Given the description of an element on the screen output the (x, y) to click on. 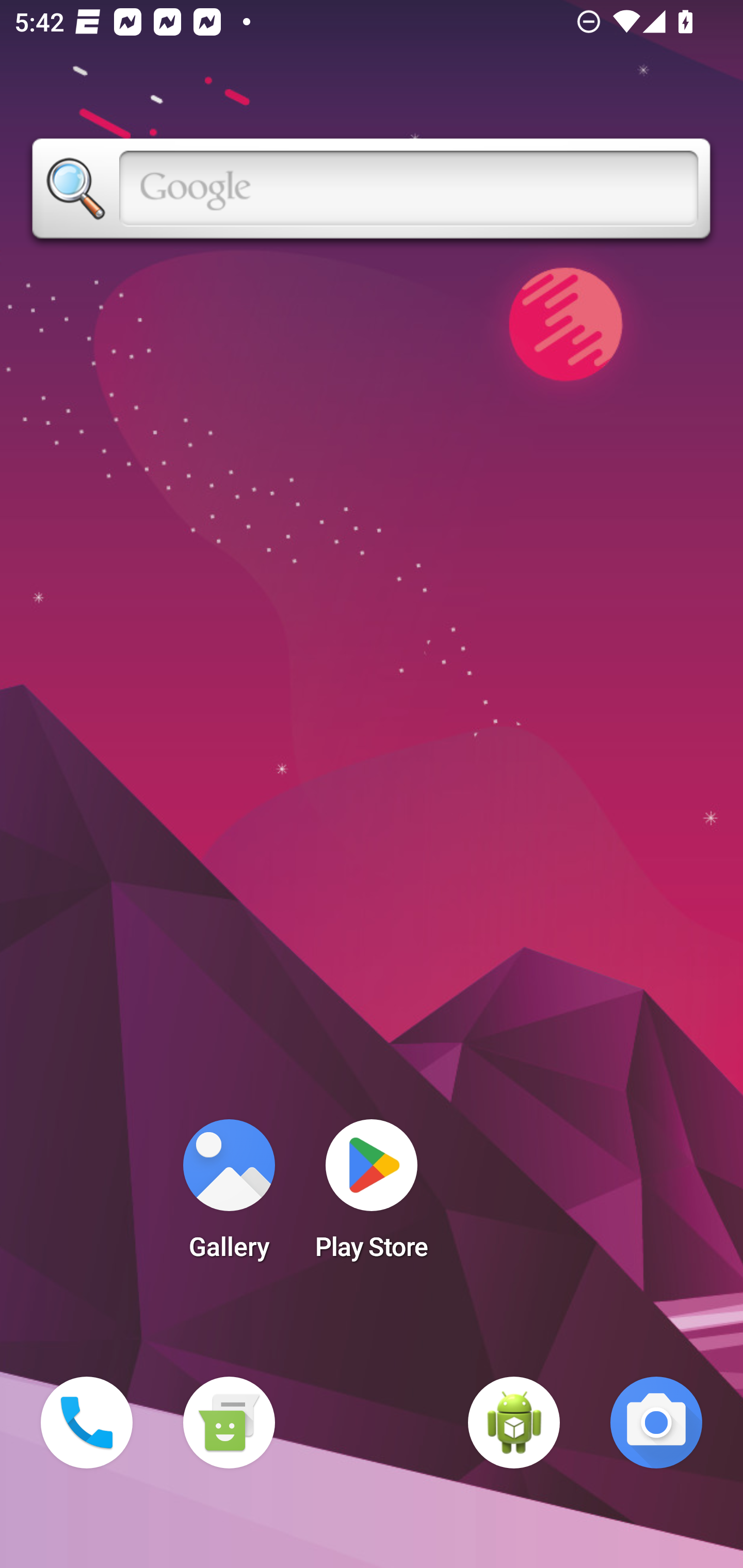
Gallery (228, 1195)
Play Store (371, 1195)
Phone (86, 1422)
Messaging (228, 1422)
WebView Browser Tester (513, 1422)
Camera (656, 1422)
